Given the description of an element on the screen output the (x, y) to click on. 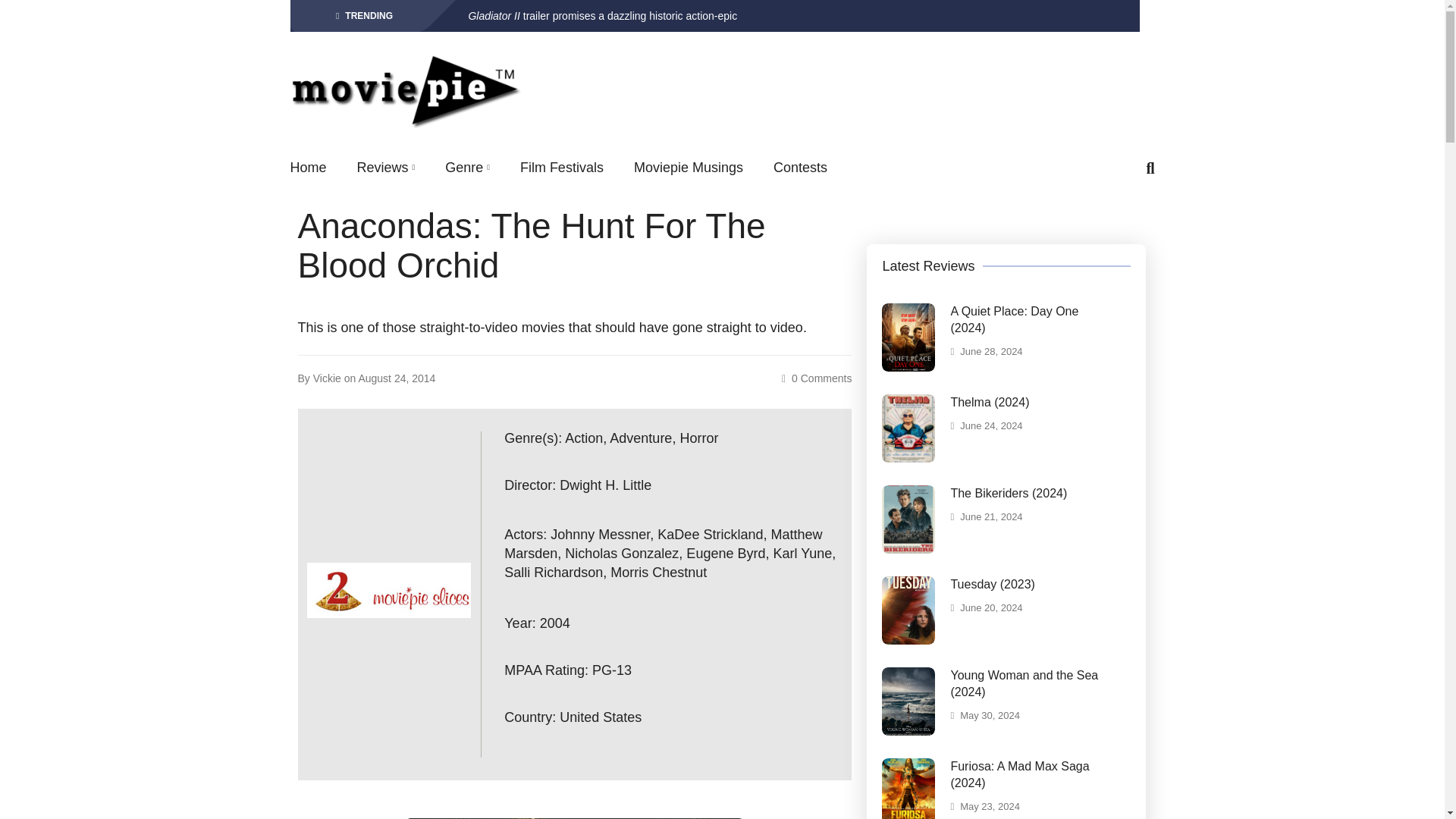
Film Festivals (561, 168)
Contests (800, 168)
Genre (467, 168)
Moviepie Musings (687, 168)
Home (307, 168)
Reviews (385, 168)
